Given the description of an element on the screen output the (x, y) to click on. 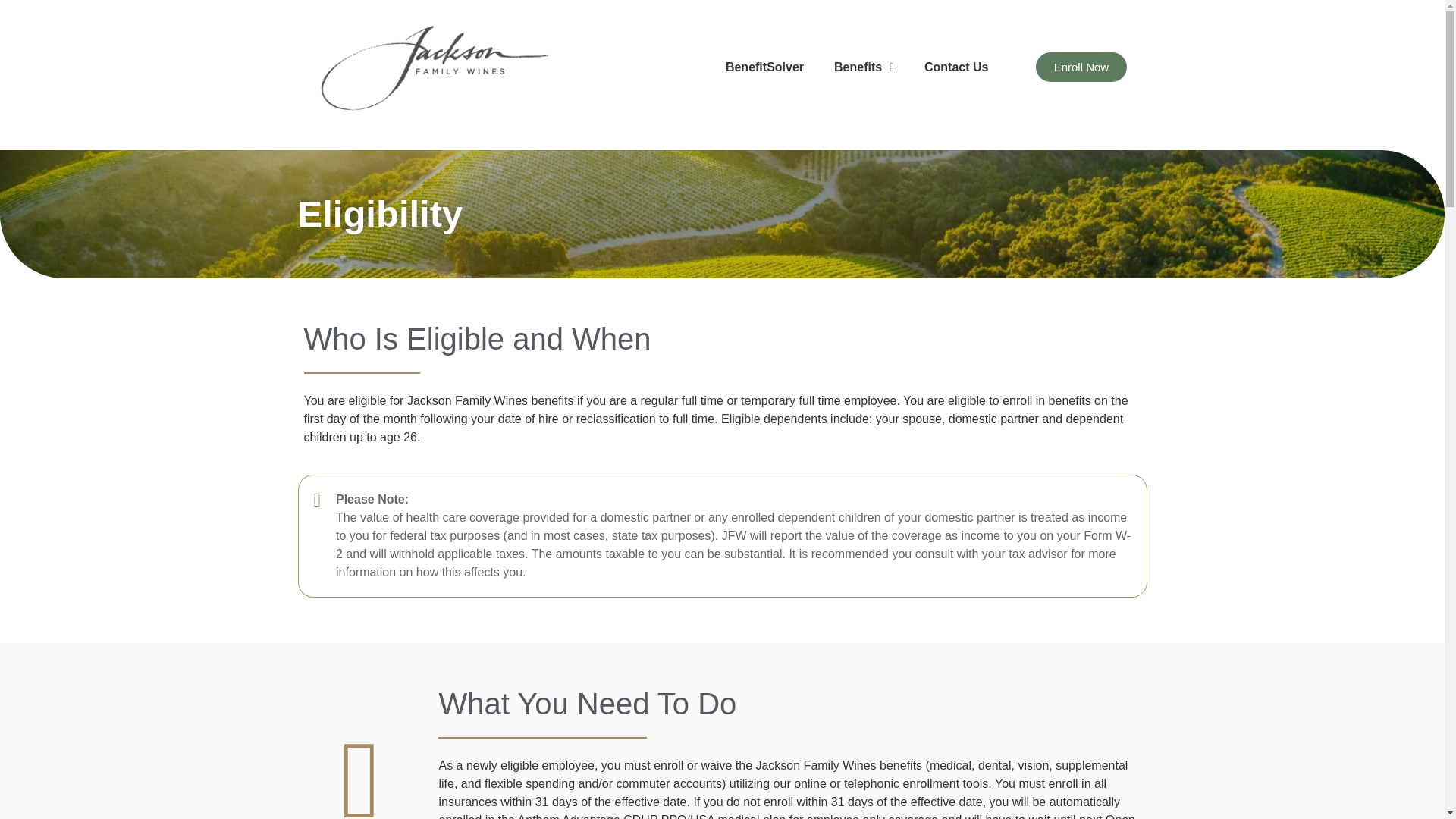
Benefits (863, 67)
BenefitSolver (764, 67)
Enroll Now (1080, 66)
Contact Us (955, 67)
